Given the description of an element on the screen output the (x, y) to click on. 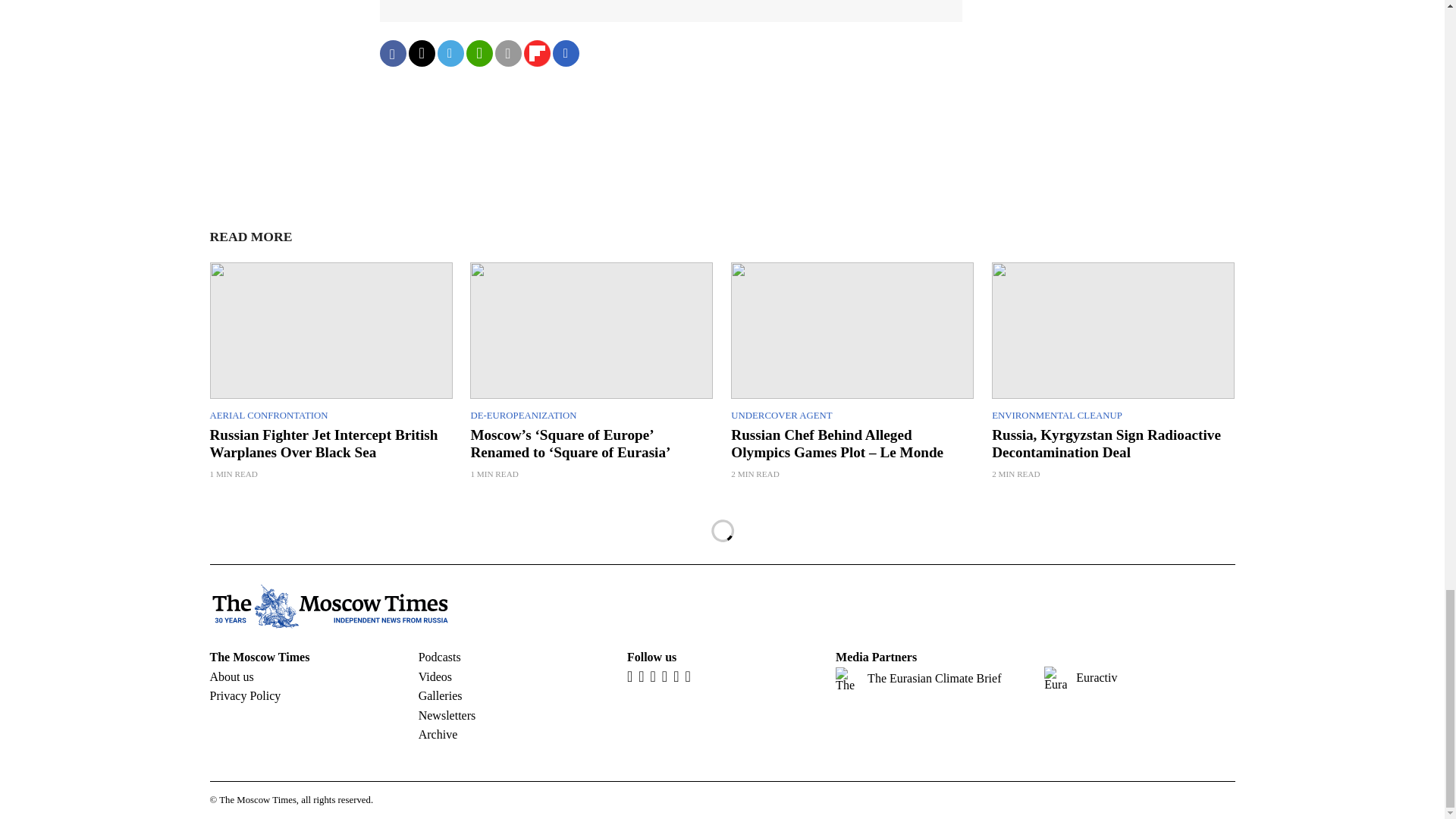
Share on Twitter (420, 53)
Share on Telegram (449, 53)
Share on Facebook (392, 53)
Share on Flipboard (536, 53)
Download as PDF (565, 53)
Share on WhatsApp (478, 53)
Share with email (508, 53)
